Given the description of an element on the screen output the (x, y) to click on. 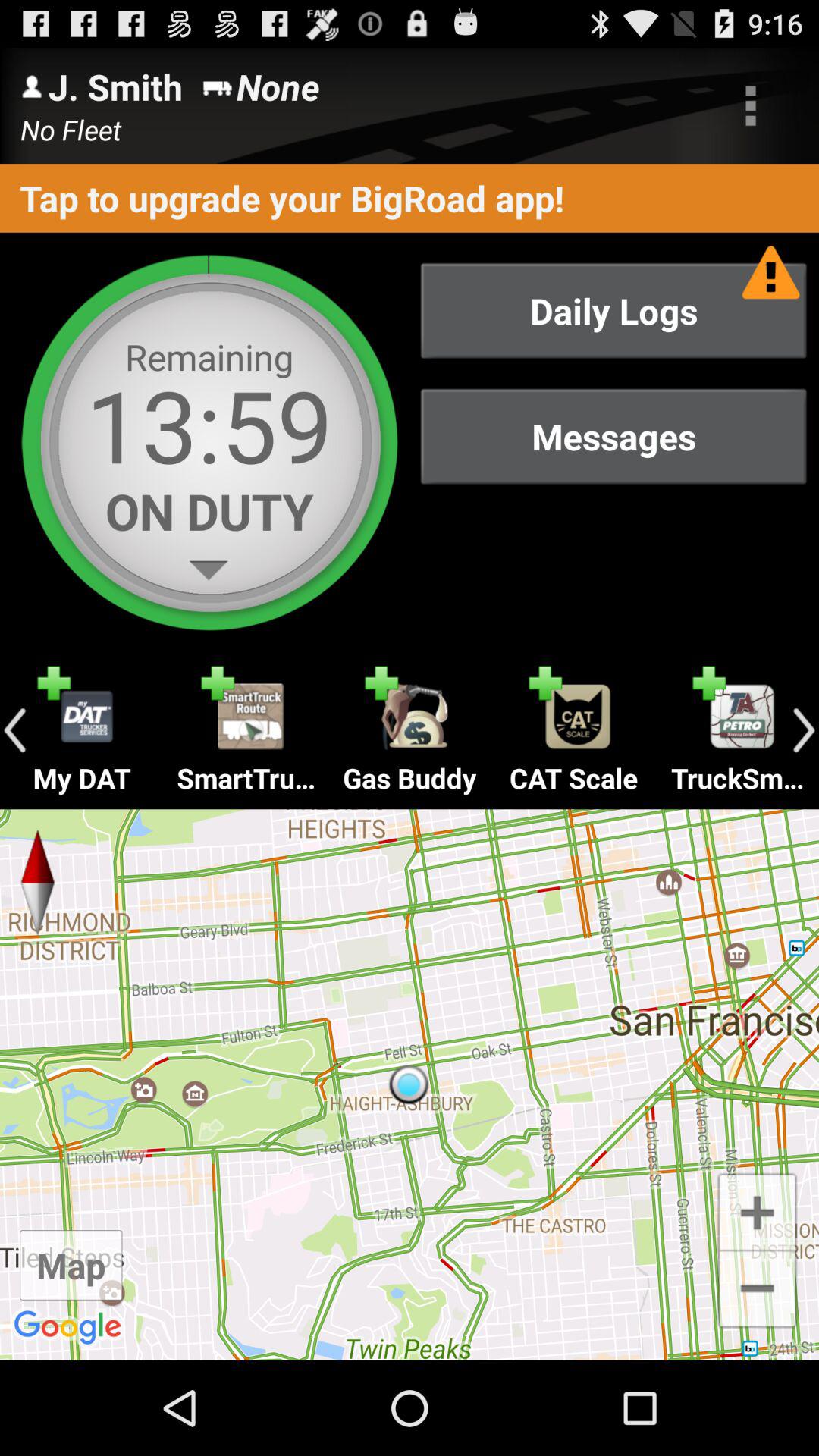
open daily logs button (613, 310)
